Given the description of an element on the screen output the (x, y) to click on. 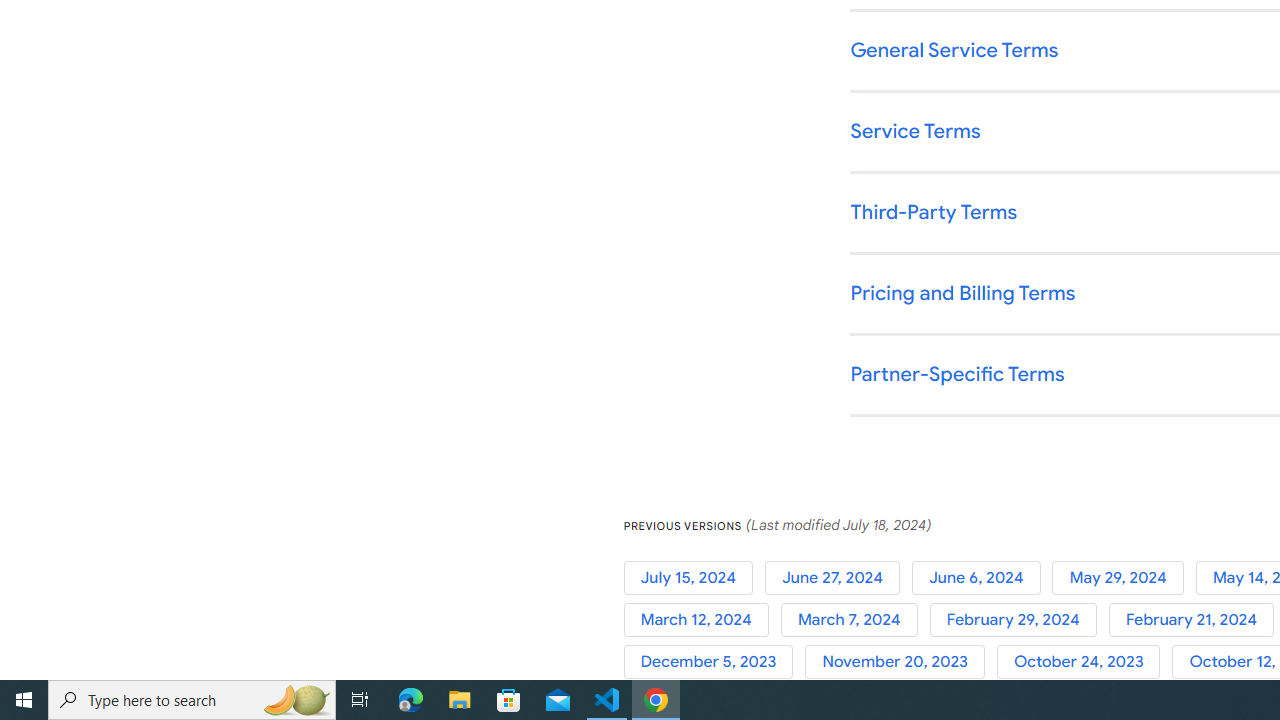
March 12, 2024 (701, 620)
June 6, 2024 (982, 577)
July 15, 2024 (694, 577)
June 27, 2024 (837, 577)
March 7, 2024 (854, 620)
May 29, 2024 (1123, 577)
October 24, 2023 (1083, 661)
February 29, 2024 (1018, 620)
November 20, 2023 (901, 661)
December 5, 2023 (714, 661)
